Given the description of an element on the screen output the (x, y) to click on. 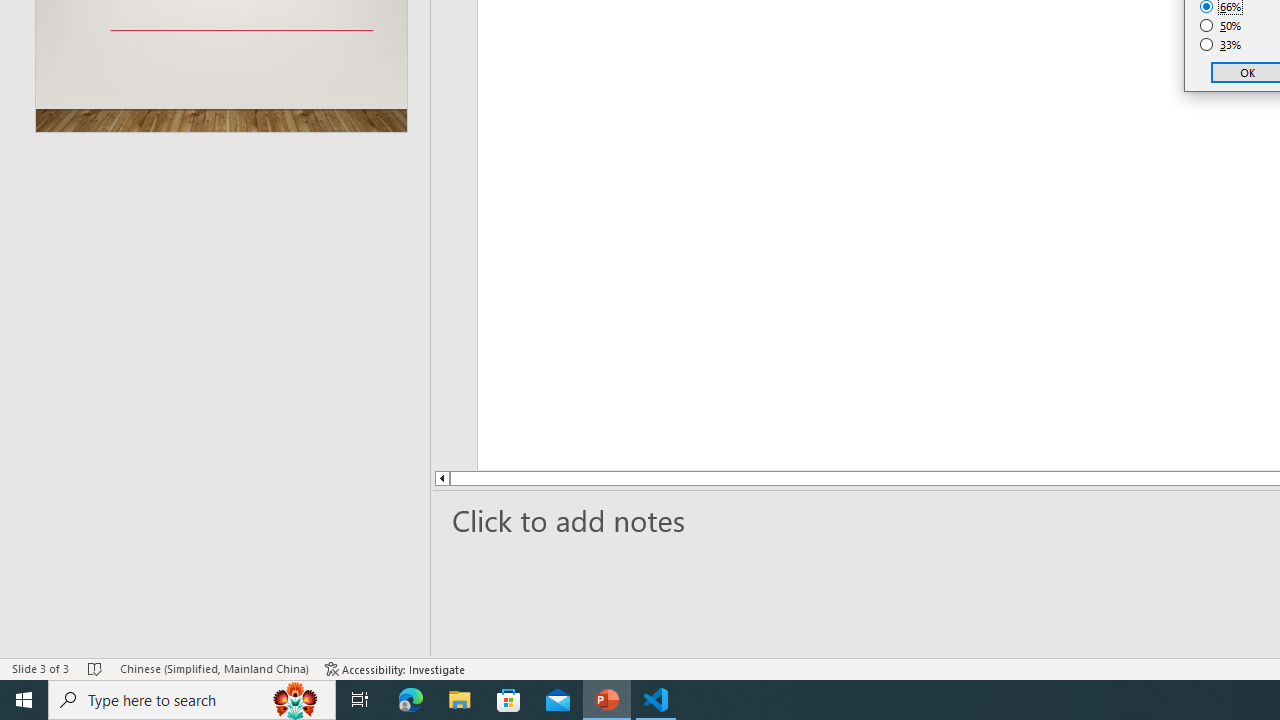
Type here to search (191, 699)
50% (1221, 25)
Search highlights icon opens search home window (295, 699)
Visual Studio Code - 1 running window (656, 699)
PowerPoint - 1 running window (607, 699)
Microsoft Store (509, 699)
Microsoft Edge (411, 699)
33% (1221, 44)
Task View (359, 699)
File Explorer (460, 699)
